Given the description of an element on the screen output the (x, y) to click on. 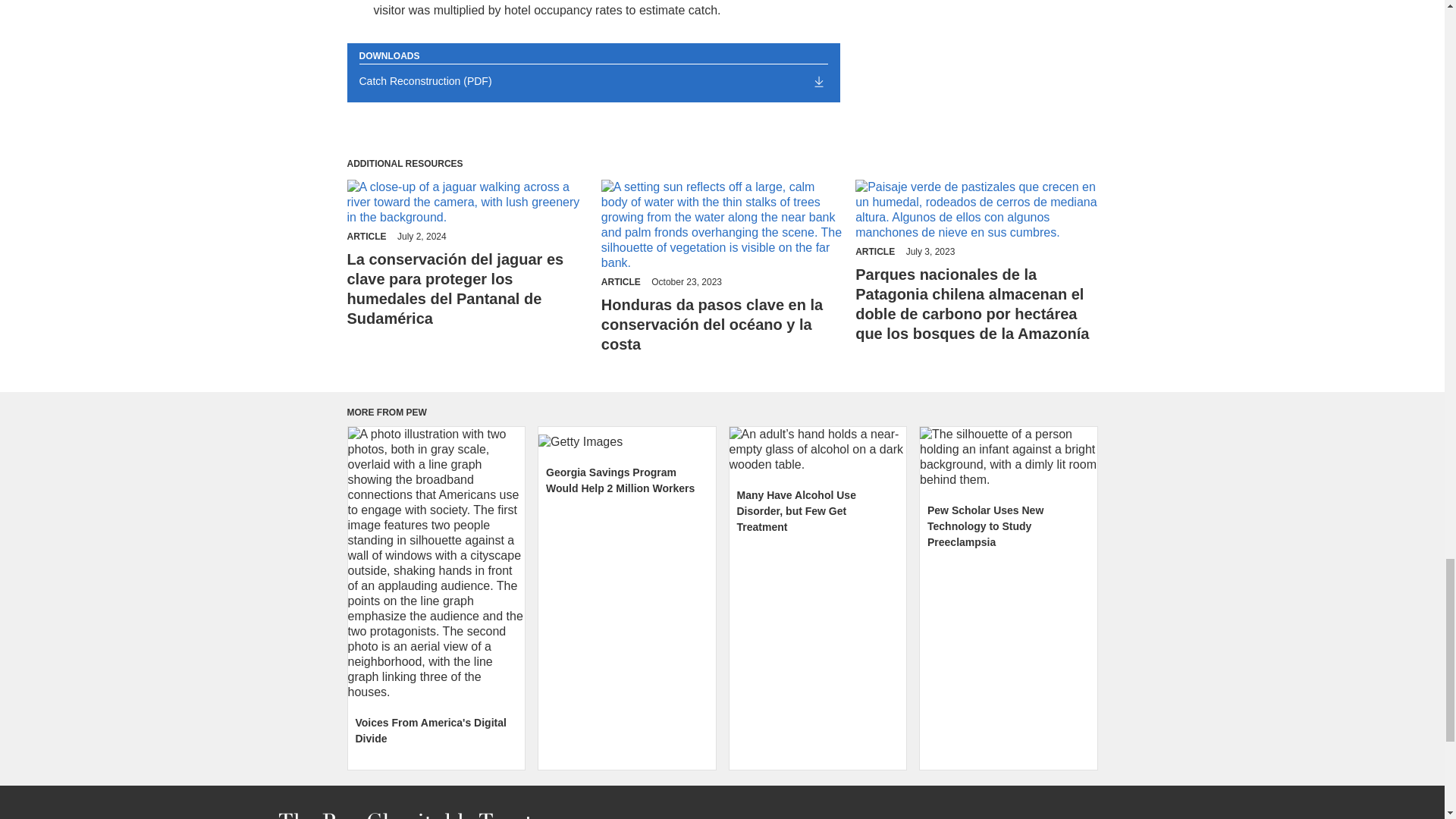
Getty Images (627, 441)
